Given the description of an element on the screen output the (x, y) to click on. 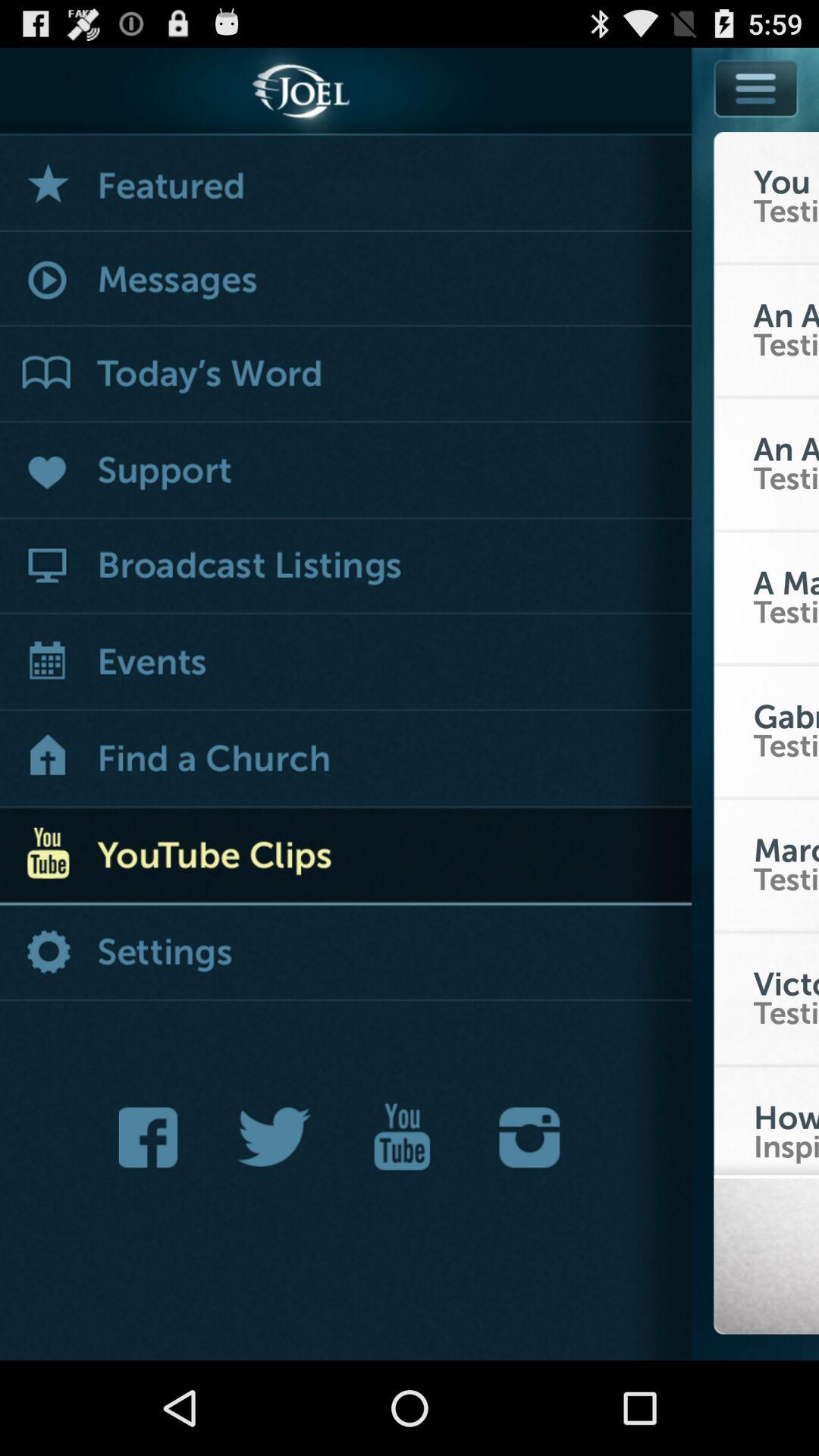
see events (345, 663)
